Given the description of an element on the screen output the (x, y) to click on. 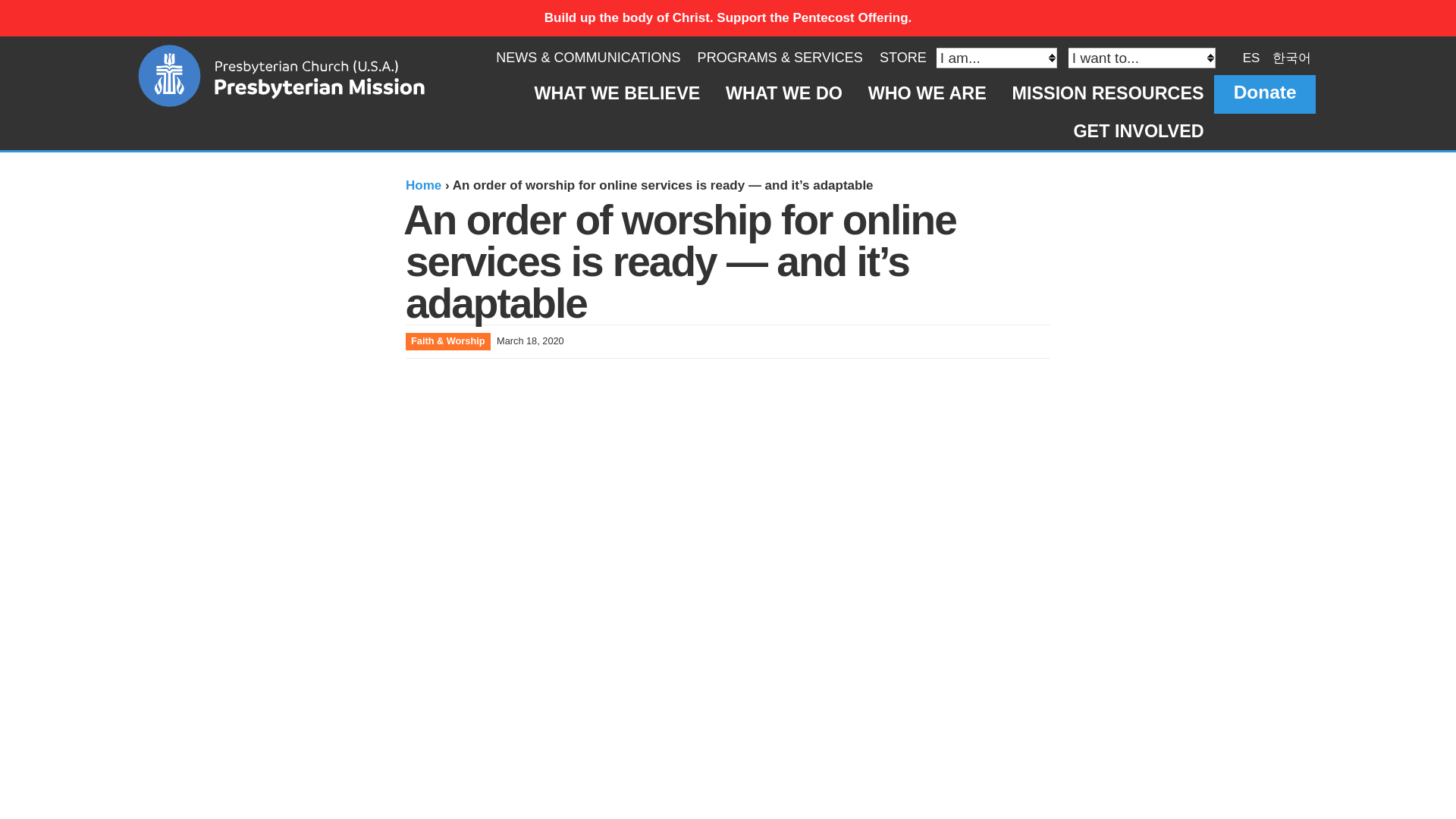
Build up the body of Christ. Support the Pentecost Offering. (728, 17)
STORE (902, 57)
